Given the description of an element on the screen output the (x, y) to click on. 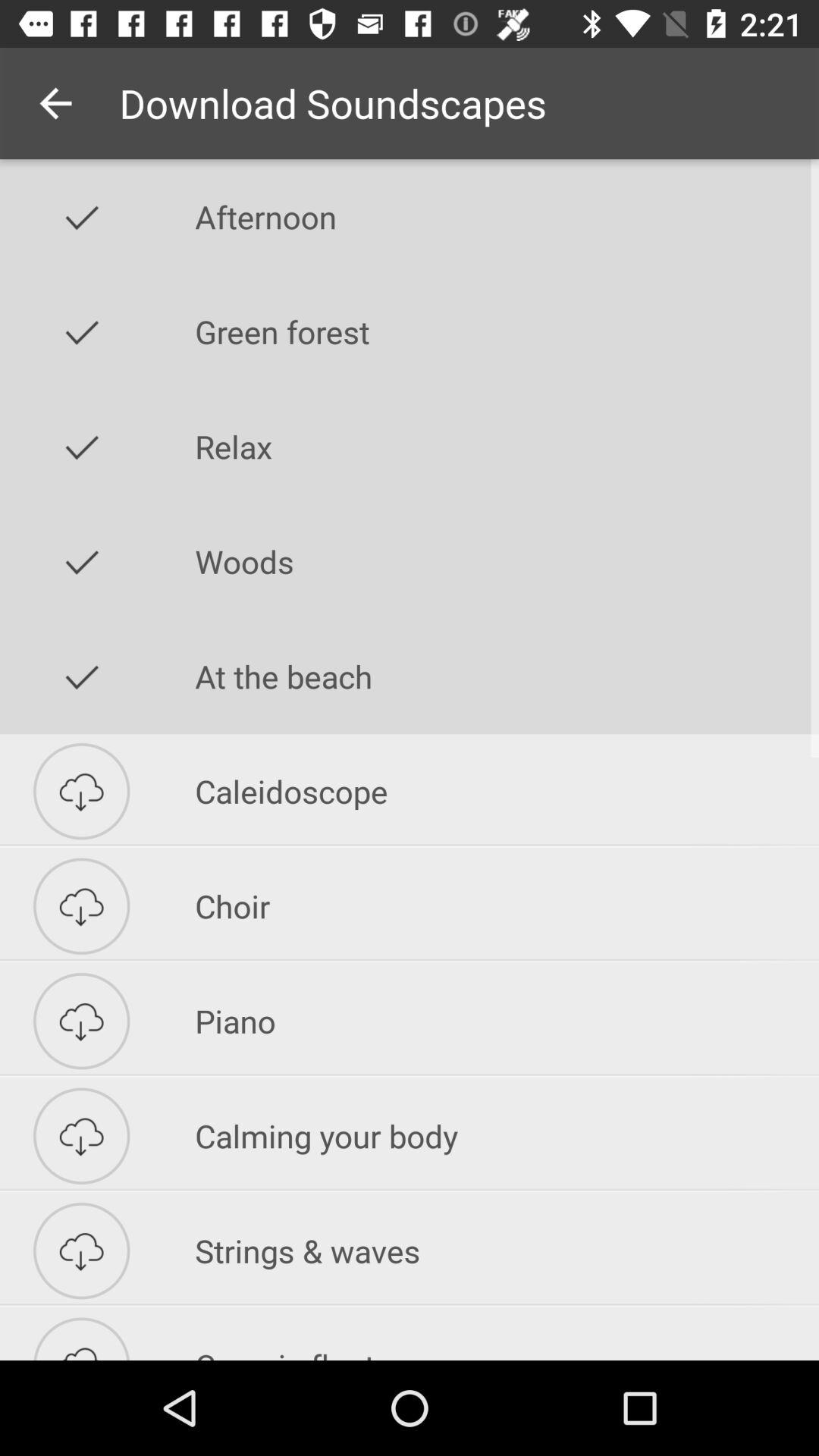
click icon below relax icon (507, 561)
